Given the description of an element on the screen output the (x, y) to click on. 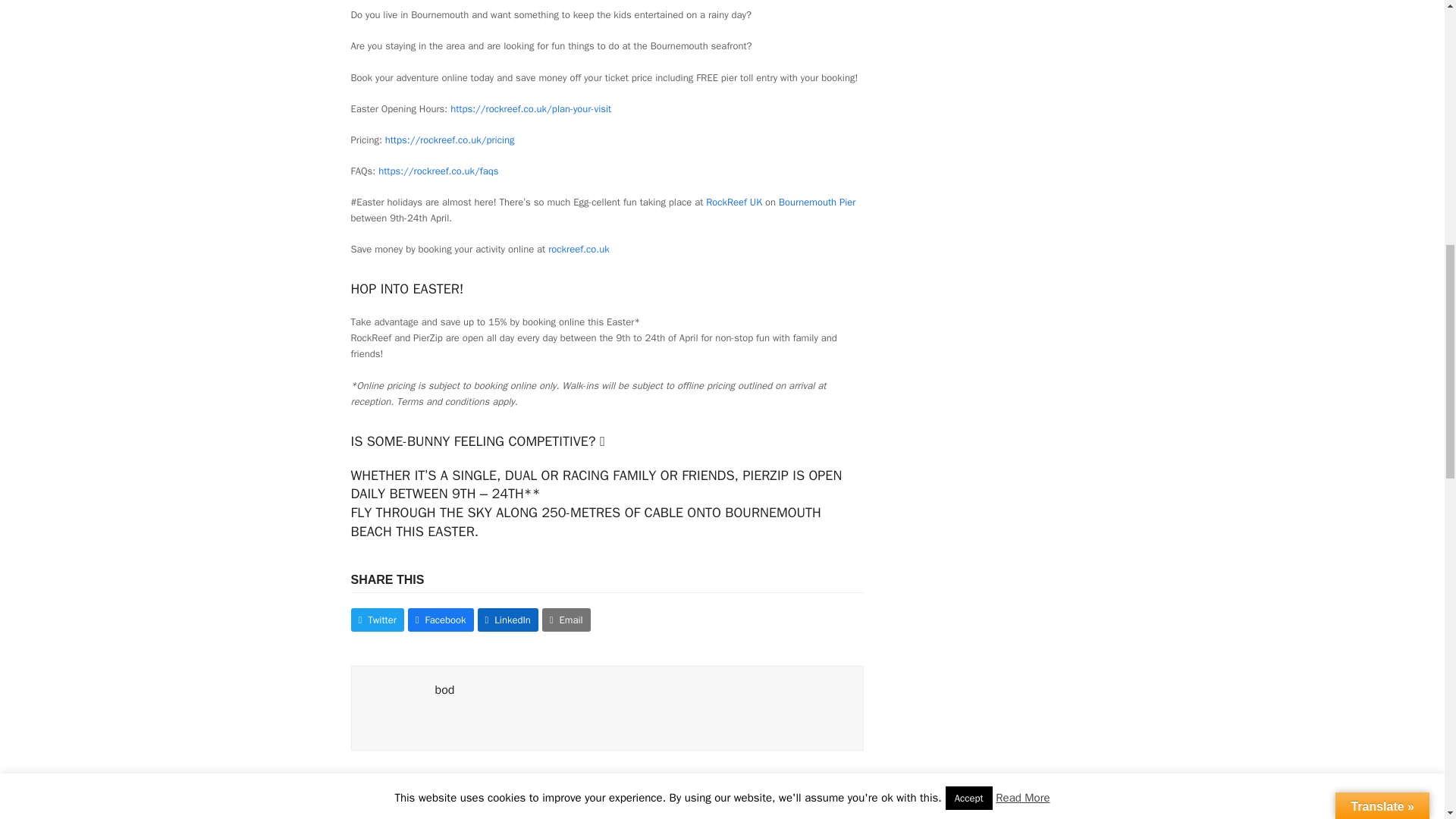
Visit Author Page (393, 707)
Visit Author Page (444, 689)
